Given the description of an element on the screen output the (x, y) to click on. 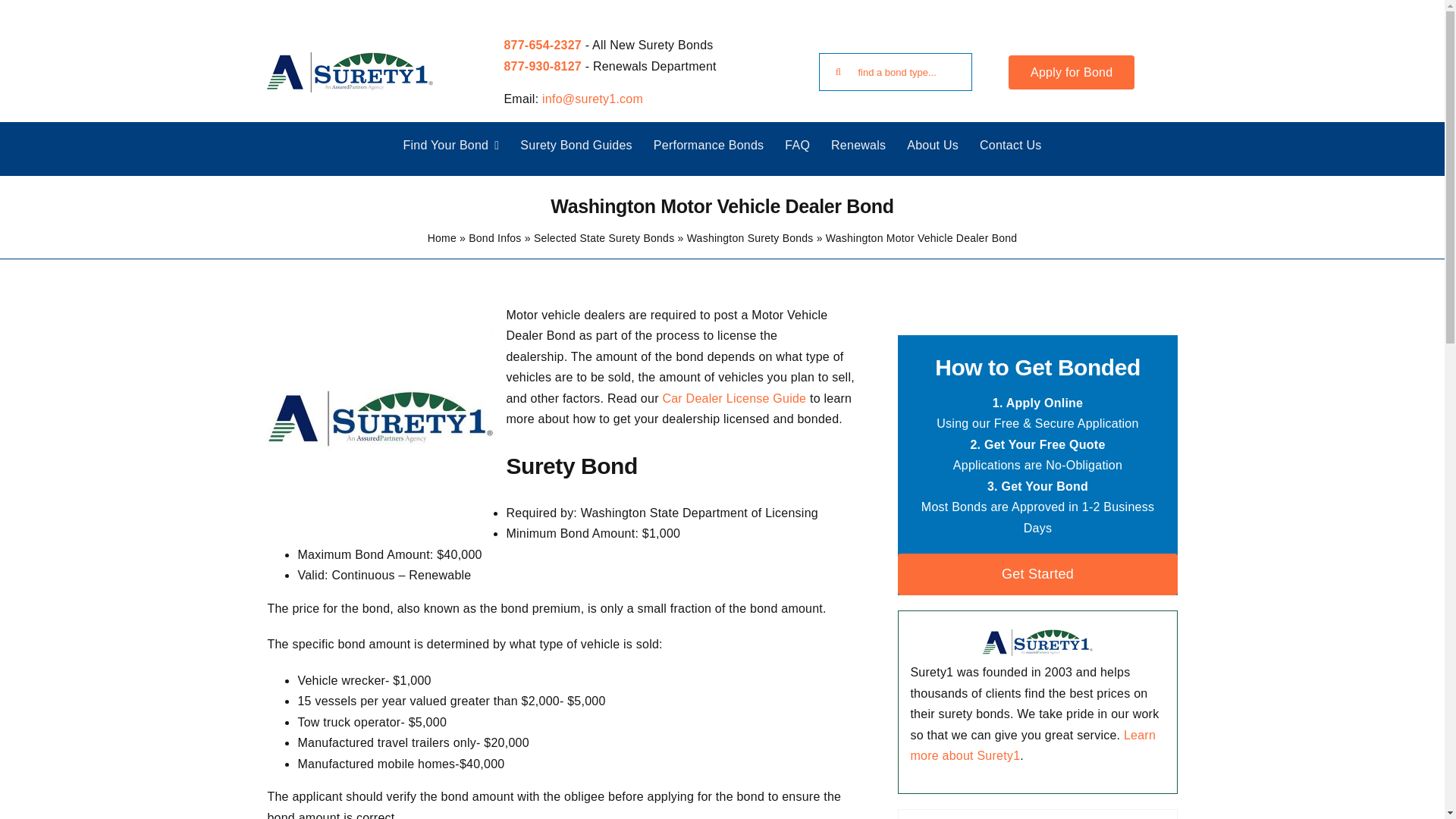
877-654-2327 (541, 44)
Find Your Bond (450, 144)
Apply for Bond (1071, 72)
877-930-8127 (541, 65)
logo-sidebar-145 (1037, 641)
